Given the description of an element on the screen output the (x, y) to click on. 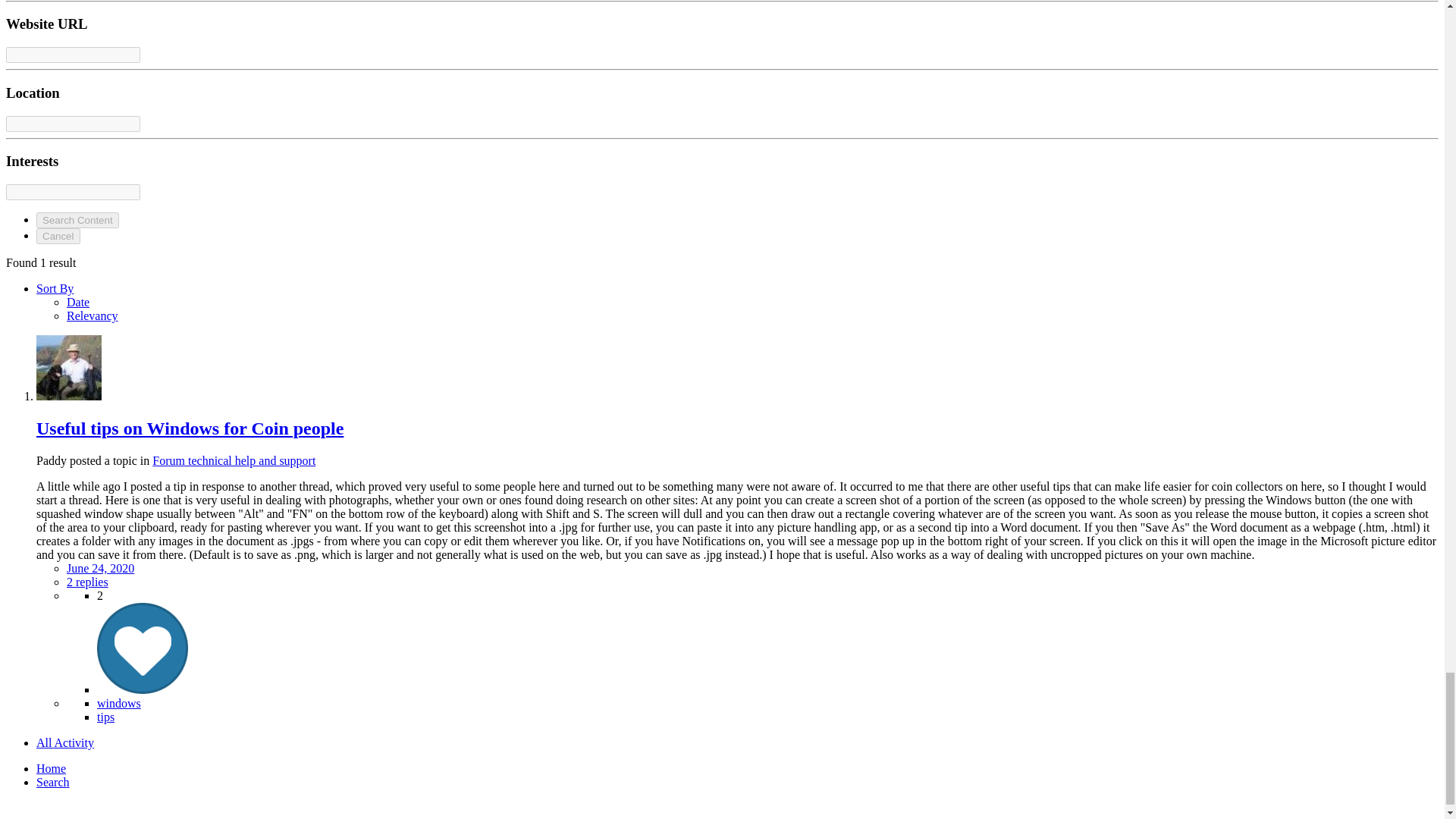
Go to Paddy's profile (68, 395)
Find other content tagged with 'windows' (119, 703)
Find other content tagged with 'tips' (106, 716)
Home (50, 768)
Like (142, 689)
